Given the description of an element on the screen output the (x, y) to click on. 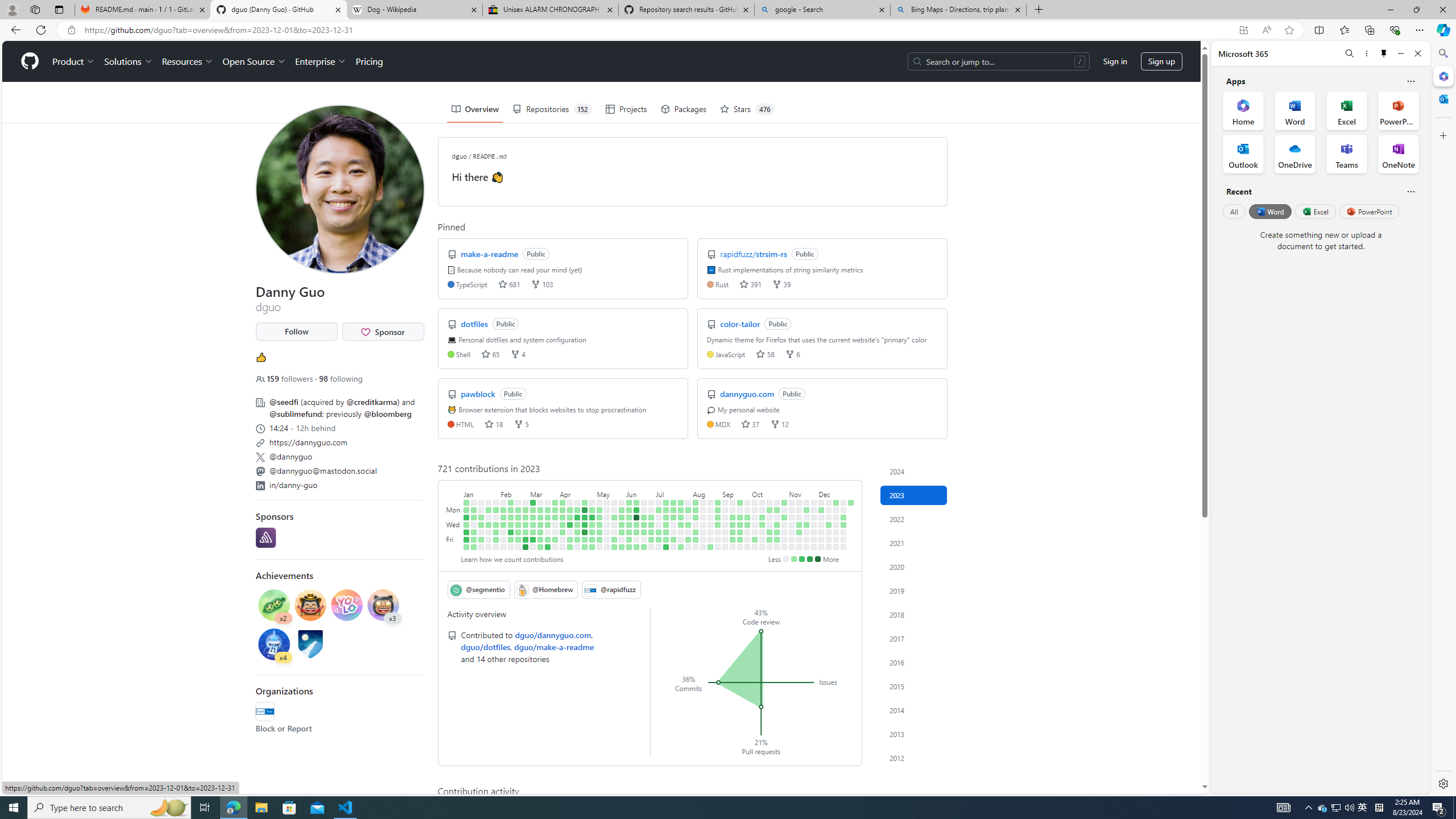
August (706, 492)
No contributions on October 30th. (784, 509)
No contributions on September 10th. (732, 502)
4 contributions on July 24th. (681, 509)
5 contributions on April 20th. (577, 531)
No contributions on November 27th. (813, 509)
dotfiles (475, 323)
No contributions on September 7th. (725, 531)
No contributions on January 27th. (489, 539)
2 contributions on April 3rd. (562, 509)
Outlook Office App (1243, 154)
Achievement: Quickdraw (310, 605)
2 contributions on June 17th. (636, 546)
No contributions on November 2nd. (784, 531)
No contributions on June 18th. (643, 502)
